Given the description of an element on the screen output the (x, y) to click on. 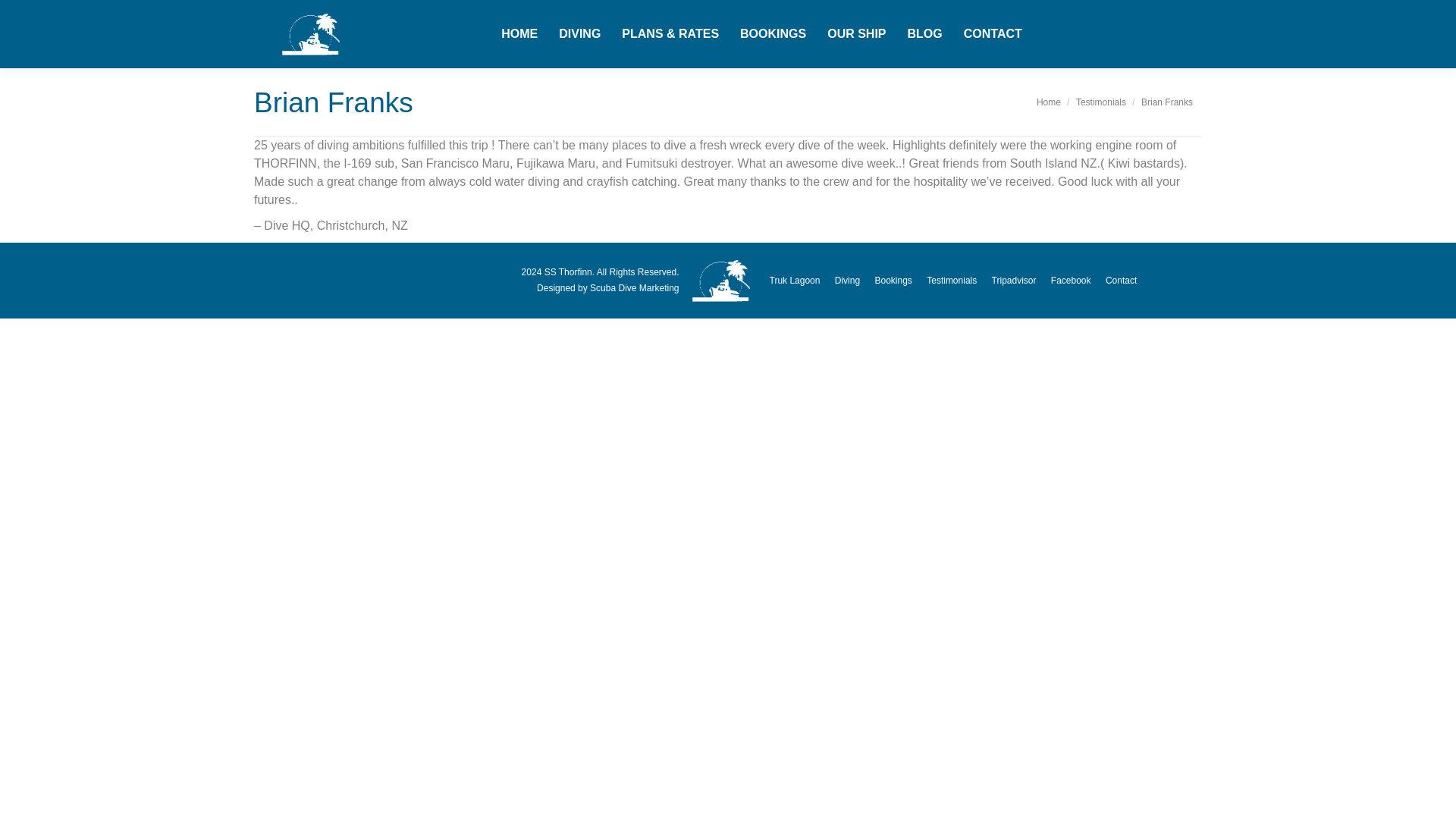
OUR SHIP (856, 34)
Testimonials (1100, 102)
CONTACT (992, 34)
HOME (518, 34)
Home (1048, 102)
DIVING (579, 34)
BLOG (924, 34)
BOOKINGS (772, 34)
